Given the description of an element on the screen output the (x, y) to click on. 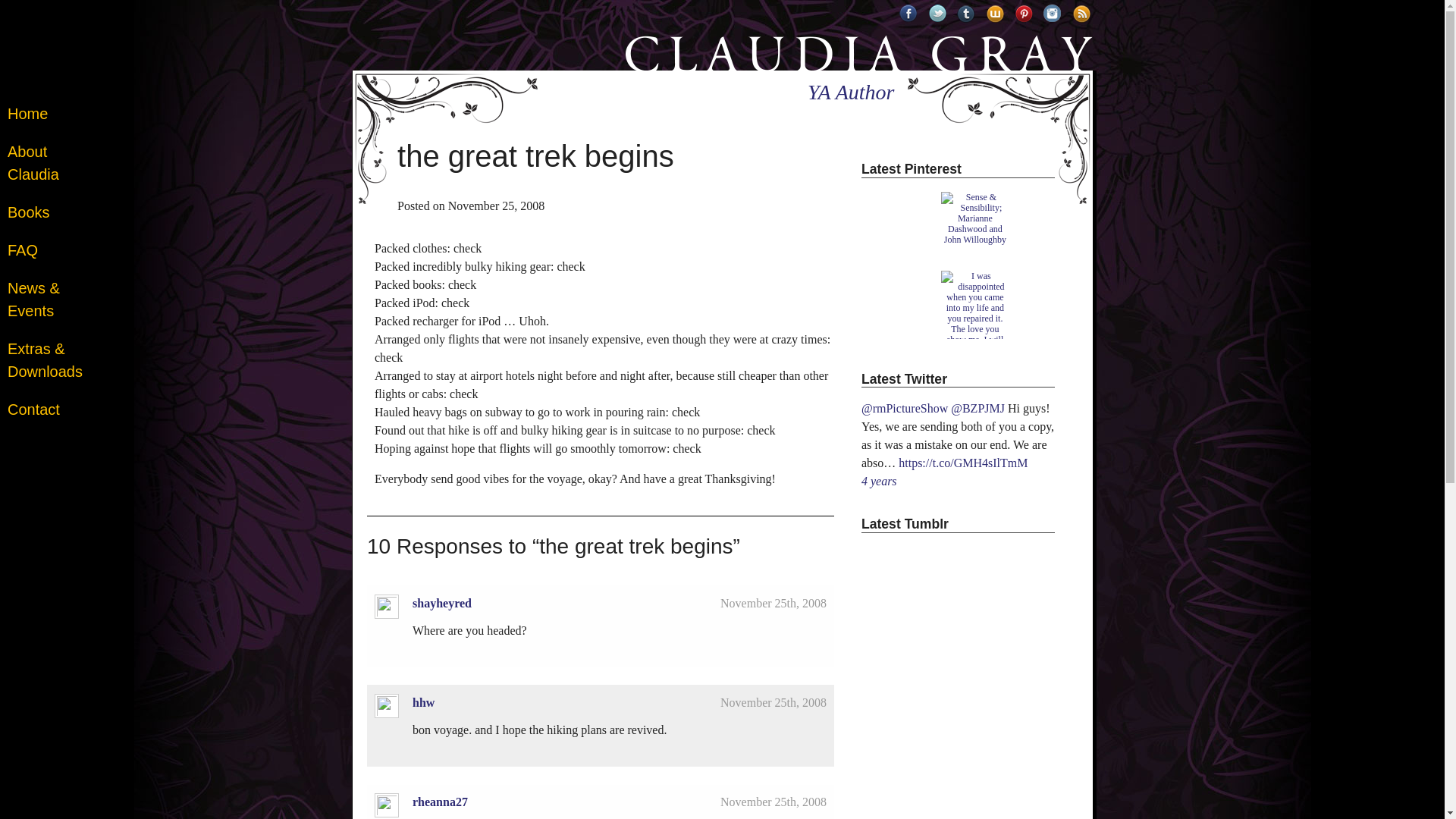
shayheyred (441, 603)
 - Pinned on Aug 30, 2024 (898, 196)
November 25th, 2008 (773, 801)
Contact (33, 409)
Home (27, 113)
About Claudia (44, 162)
Books (28, 211)
hhw (422, 702)
rheanna27 (439, 801)
 - Pinned on Aug 30, 2024 (898, 276)
